Given the description of an element on the screen output the (x, y) to click on. 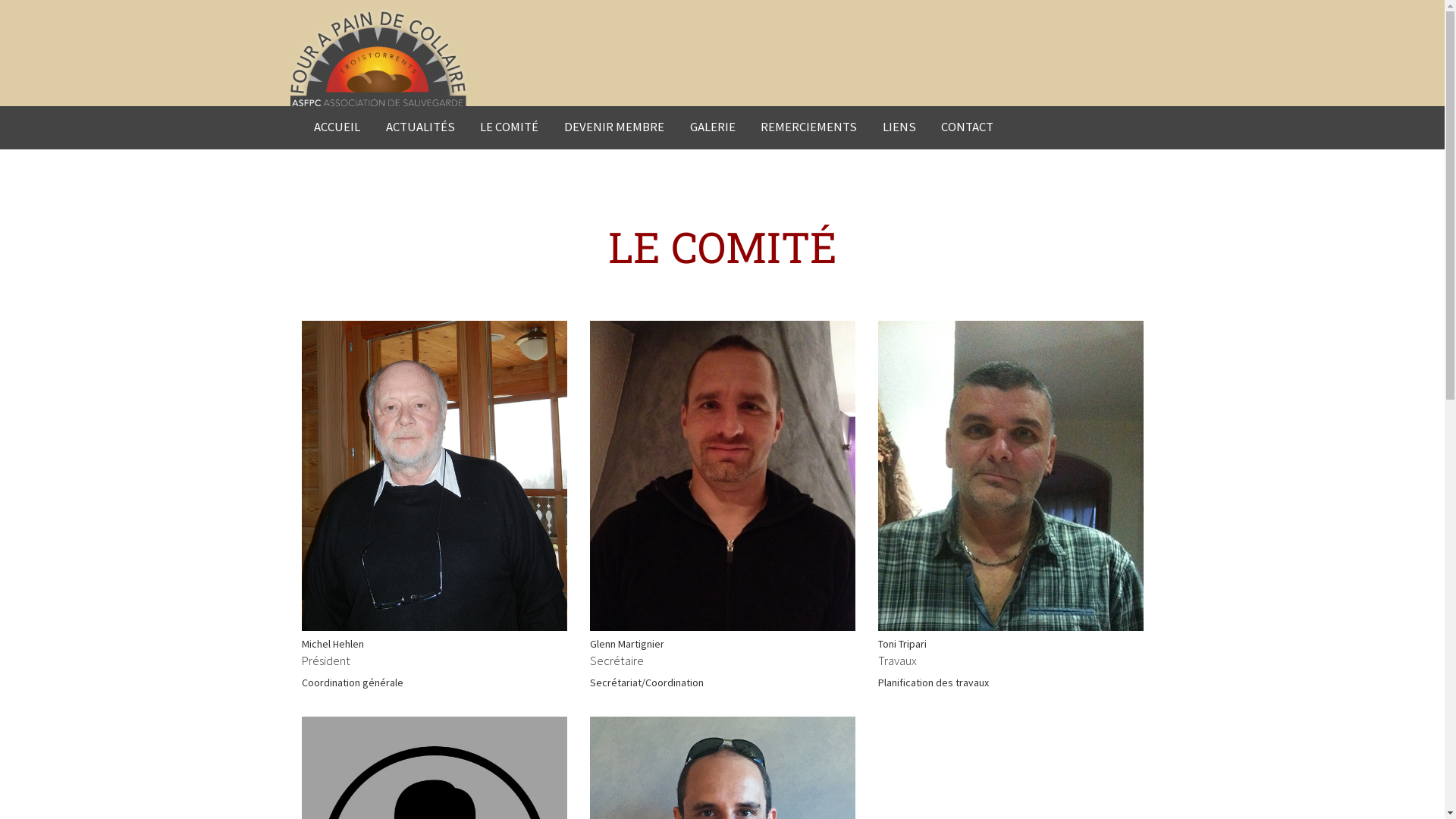
CONTACT Element type: text (967, 127)
DEVENIR MEMBRE Element type: text (614, 127)
GALERIE Element type: text (712, 127)
LIENS Element type: text (898, 127)
REMERCIEMENTS Element type: text (808, 127)
ACCUEIL Element type: text (337, 127)
